Given the description of an element on the screen output the (x, y) to click on. 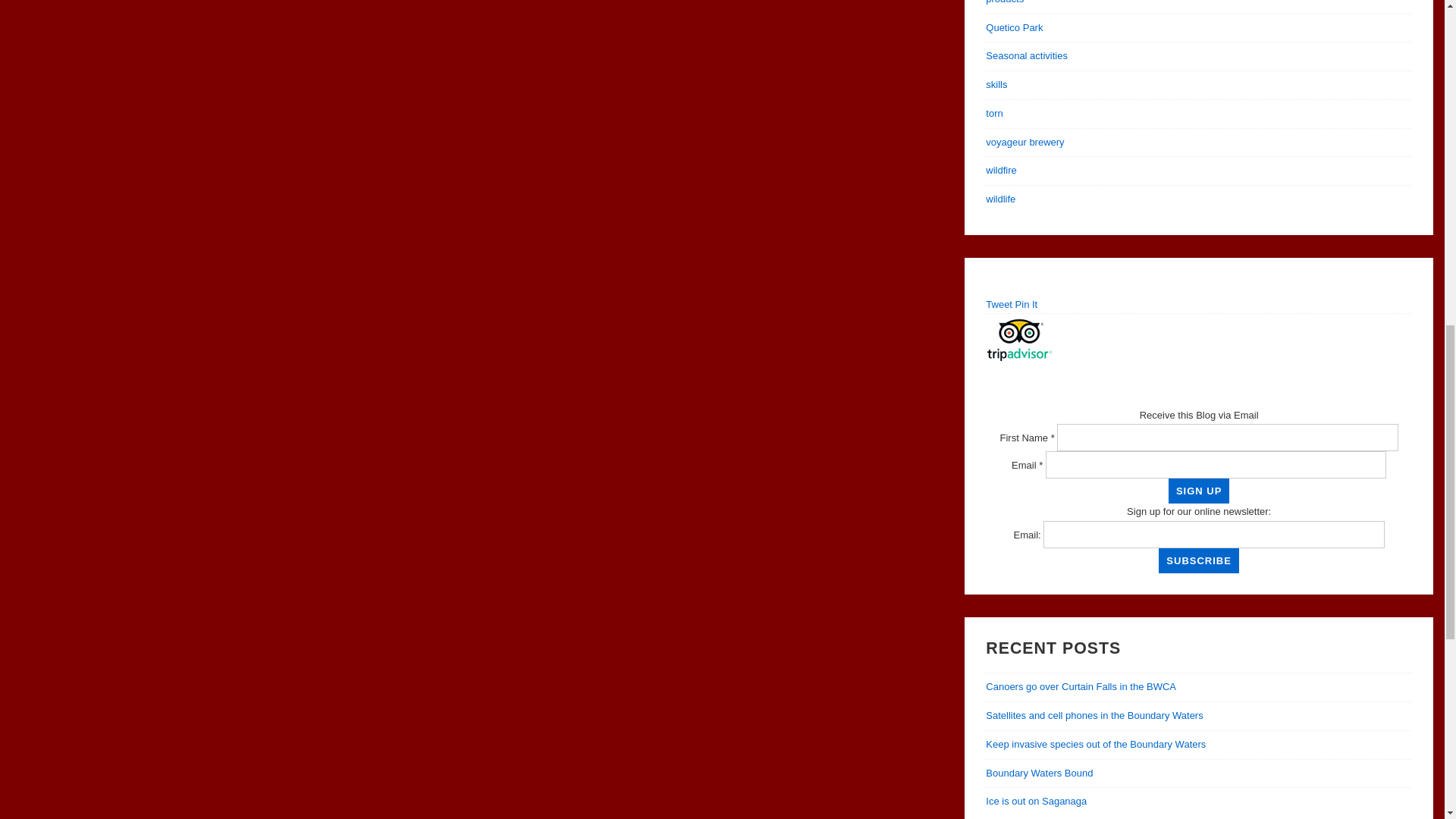
Pin It (1026, 304)
voyageur brewery (1024, 142)
Subscribe (1198, 560)
products (1004, 2)
skills (996, 84)
Keep invasive species out of the Boundary Waters (1095, 744)
wildfire (1000, 170)
wildlife (999, 198)
Quetico Park (1013, 27)
torn (994, 112)
Satellites and cell phones in the Boundary Waters (1093, 715)
Sign Up (1198, 490)
Subscribe (1198, 560)
Canoers go over Curtain Falls in the BWCA (1080, 686)
Tweet (998, 304)
